Given the description of an element on the screen output the (x, y) to click on. 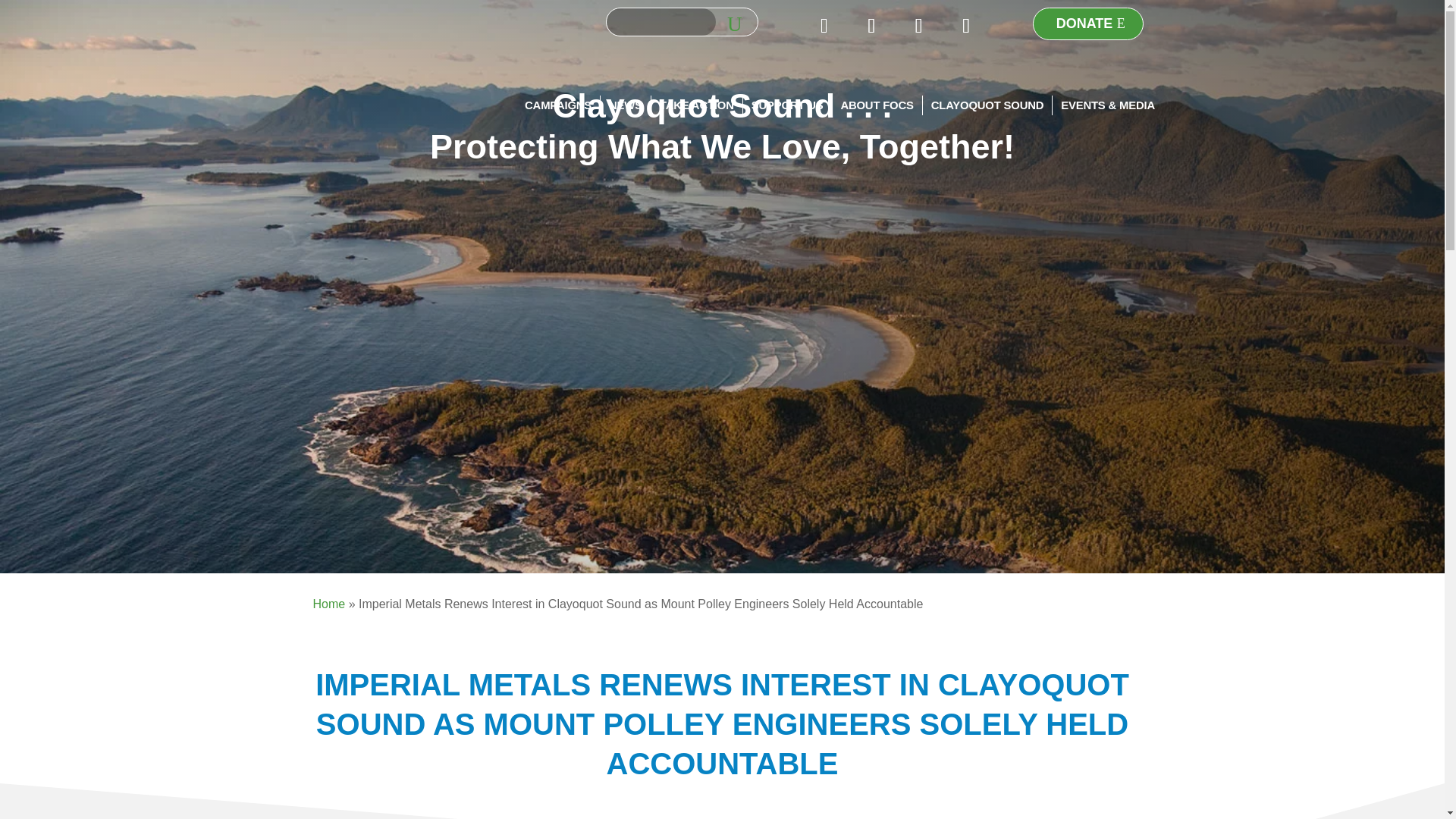
TAKE ACTION (696, 105)
Follow on Facebook (823, 24)
SUPPORT US (787, 105)
CAMPAIGNS (557, 105)
NEWS (625, 105)
Follow on X (870, 24)
Follow on Instagram (918, 24)
Search (736, 22)
Search (736, 22)
ABOUT FOCS (876, 105)
Follow on Youtube (965, 24)
CLAYOQUOT SOUND (987, 105)
Search (736, 22)
DONATE (1088, 23)
